Given the description of an element on the screen output the (x, y) to click on. 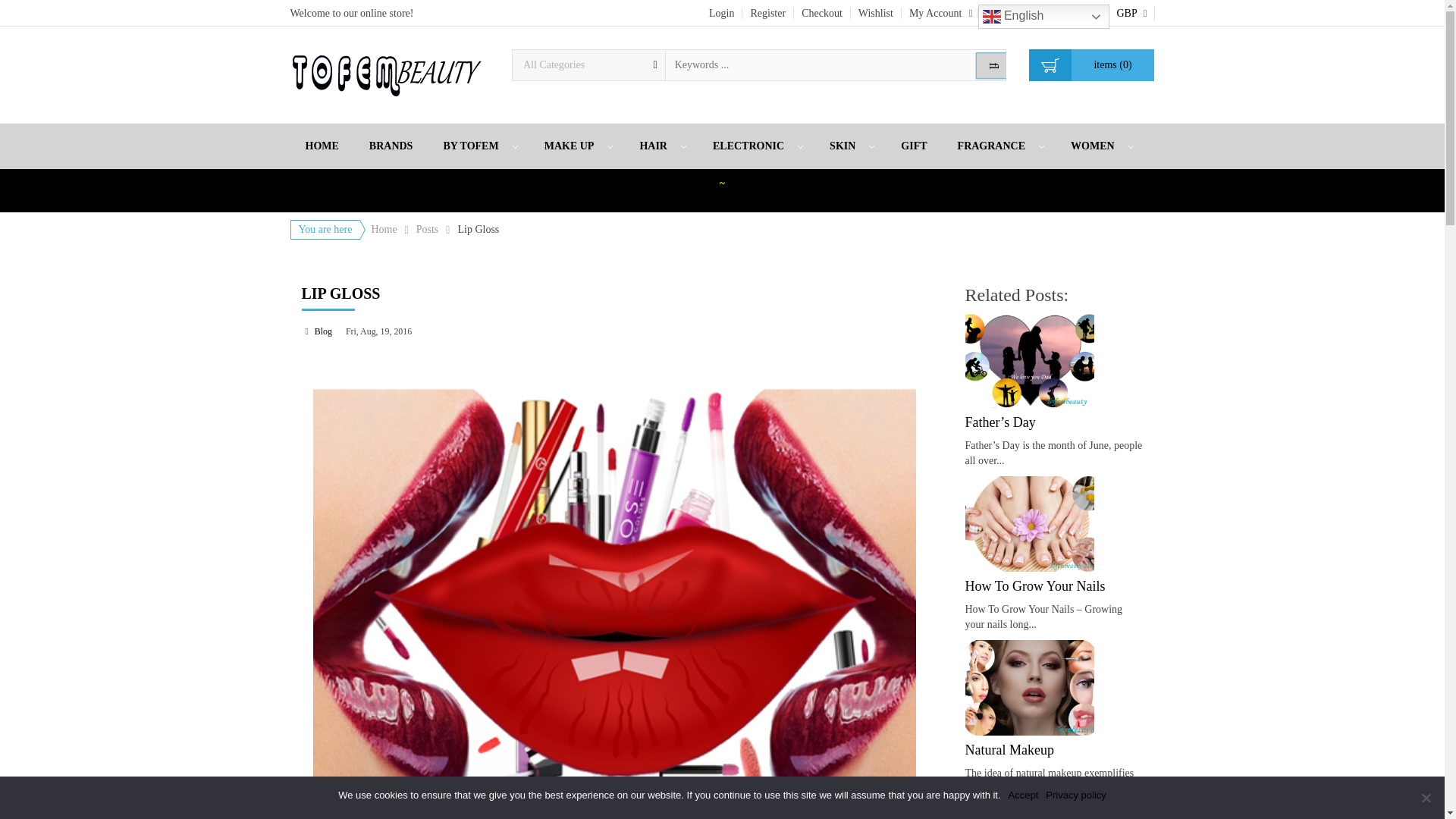
Register (767, 13)
Wishlist (875, 13)
Login (721, 13)
GBP (1131, 12)
Checkout (821, 13)
English (1043, 16)
Wishlist Page (875, 13)
My Account (939, 12)
